Given the description of an element on the screen output the (x, y) to click on. 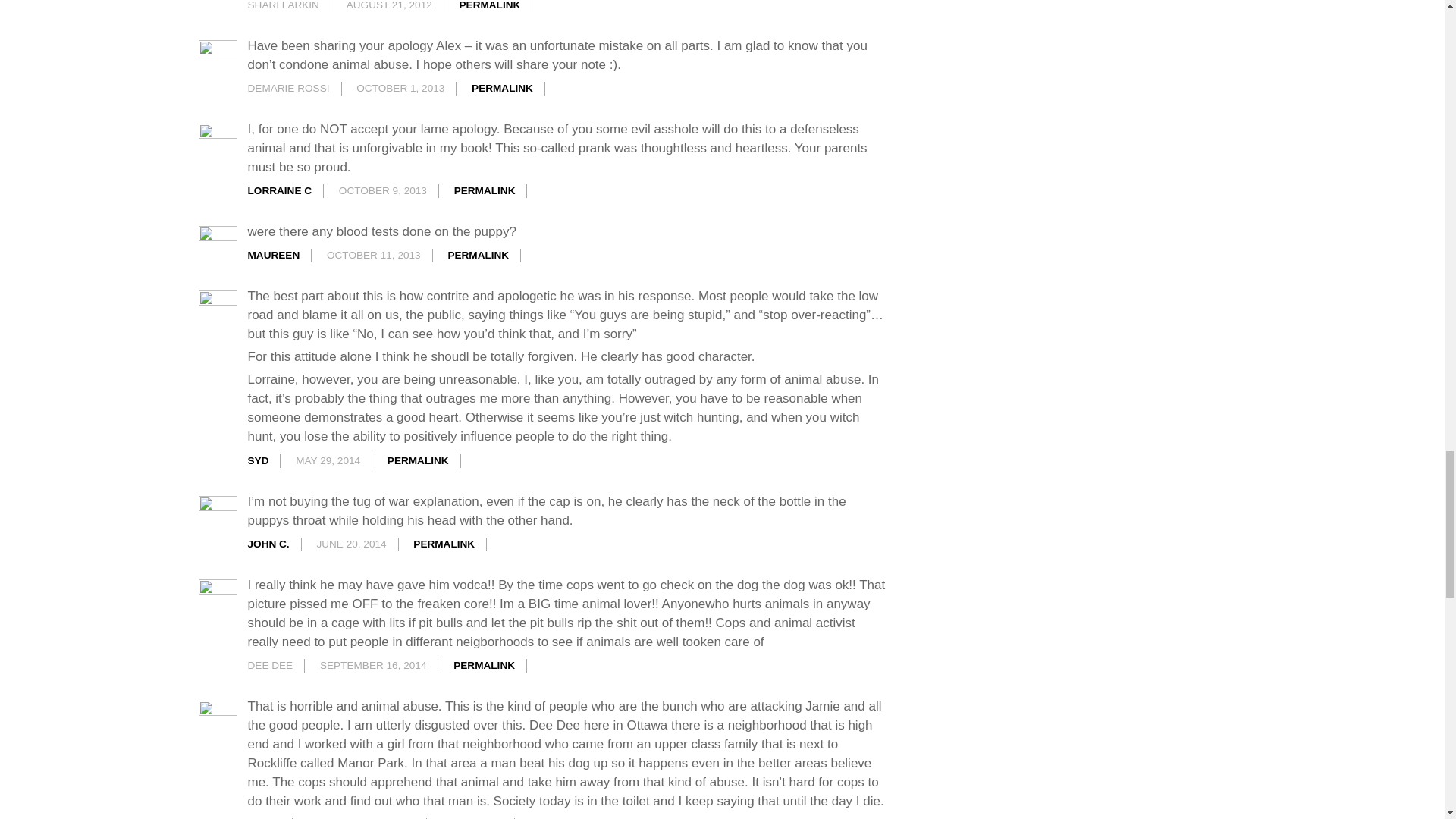
Friday, October 11, 2013, 4:03 pm (373, 255)
Friday, June 20, 2014, 5:42 pm (350, 543)
Wednesday, October 9, 2013, 6:34 pm (382, 190)
Tuesday, August 21, 2012, 10:40 am (389, 5)
Tuesday, October 1, 2013, 2:52 pm (400, 88)
Tuesday, September 16, 2014, 5:17 pm (373, 665)
Thursday, May 29, 2014, 1:11 pm (327, 460)
